Given the description of an element on the screen output the (x, y) to click on. 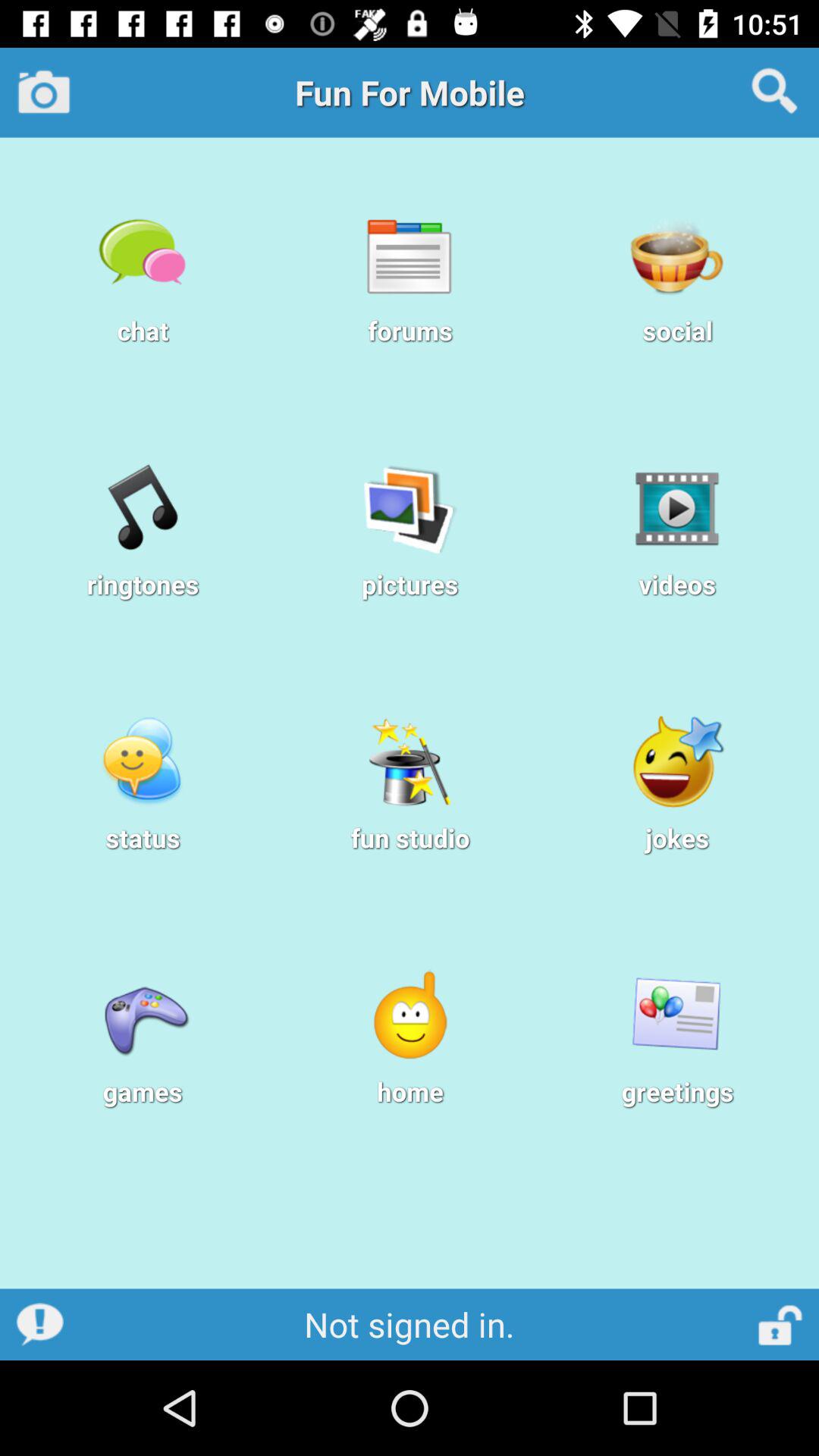
page not secure (781, 1324)
